Given the description of an element on the screen output the (x, y) to click on. 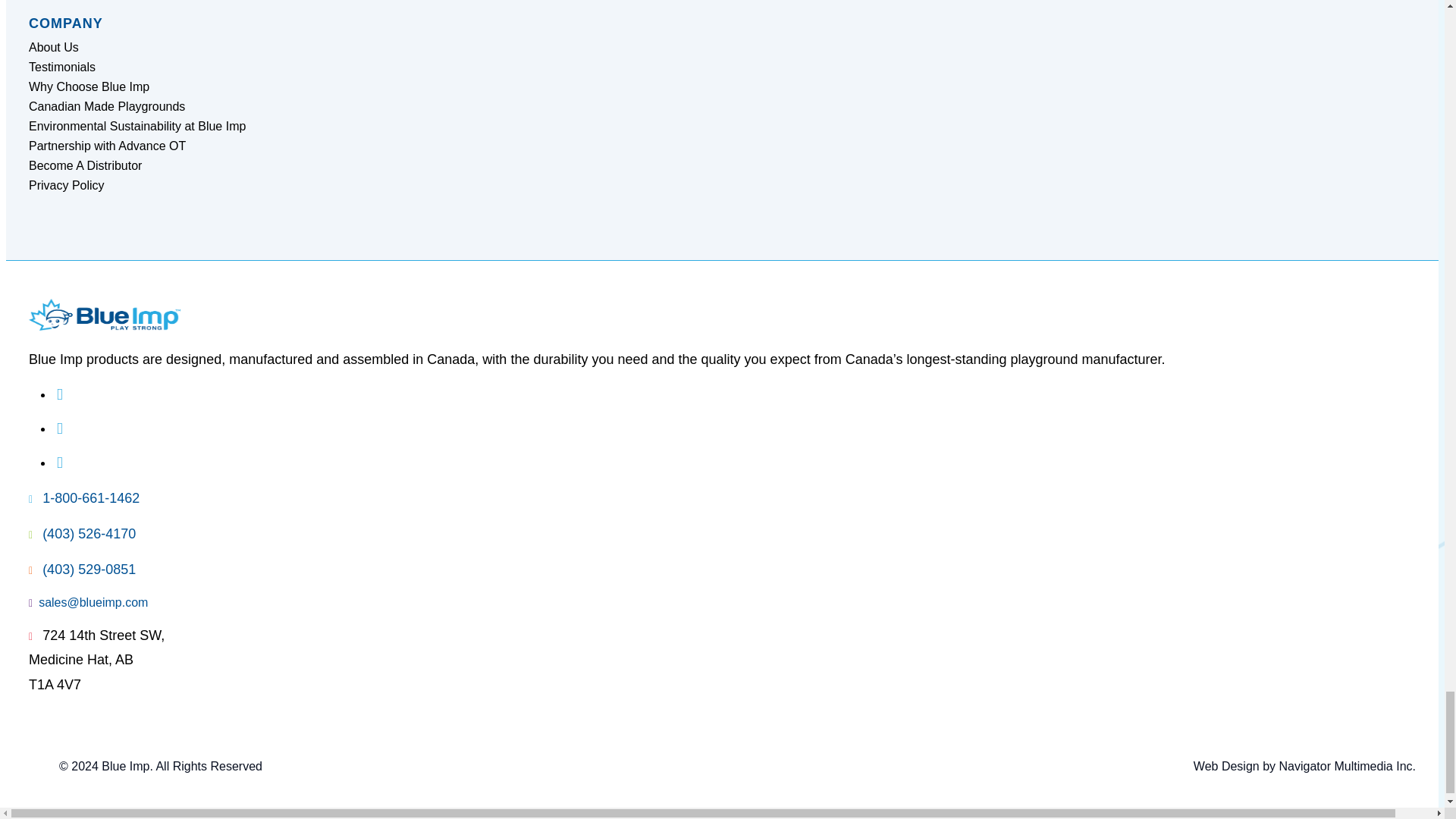
Outta This World Playground Sale (880, 18)
